Given the description of an element on the screen output the (x, y) to click on. 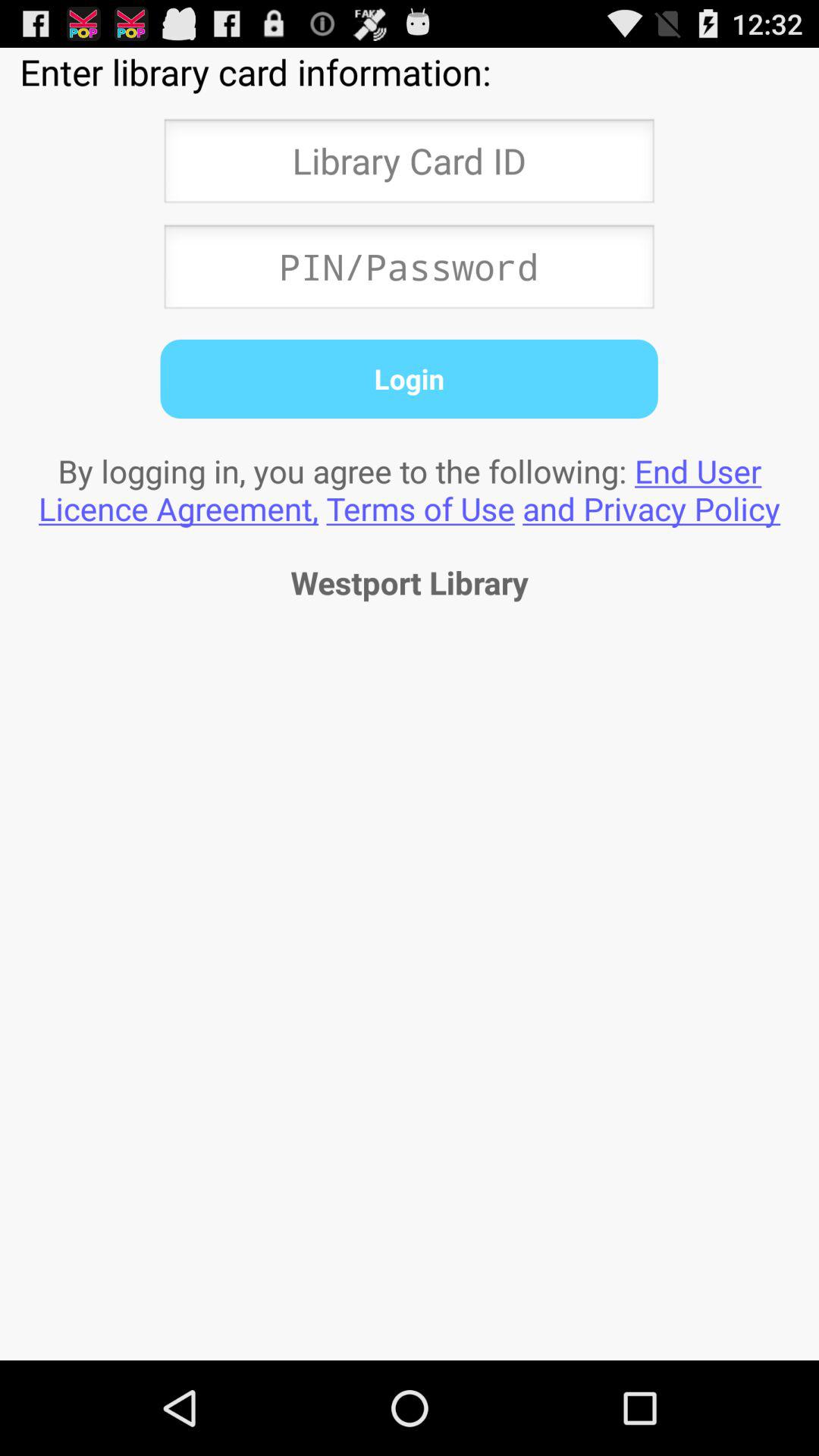
input library card id (409, 165)
